Given the description of an element on the screen output the (x, y) to click on. 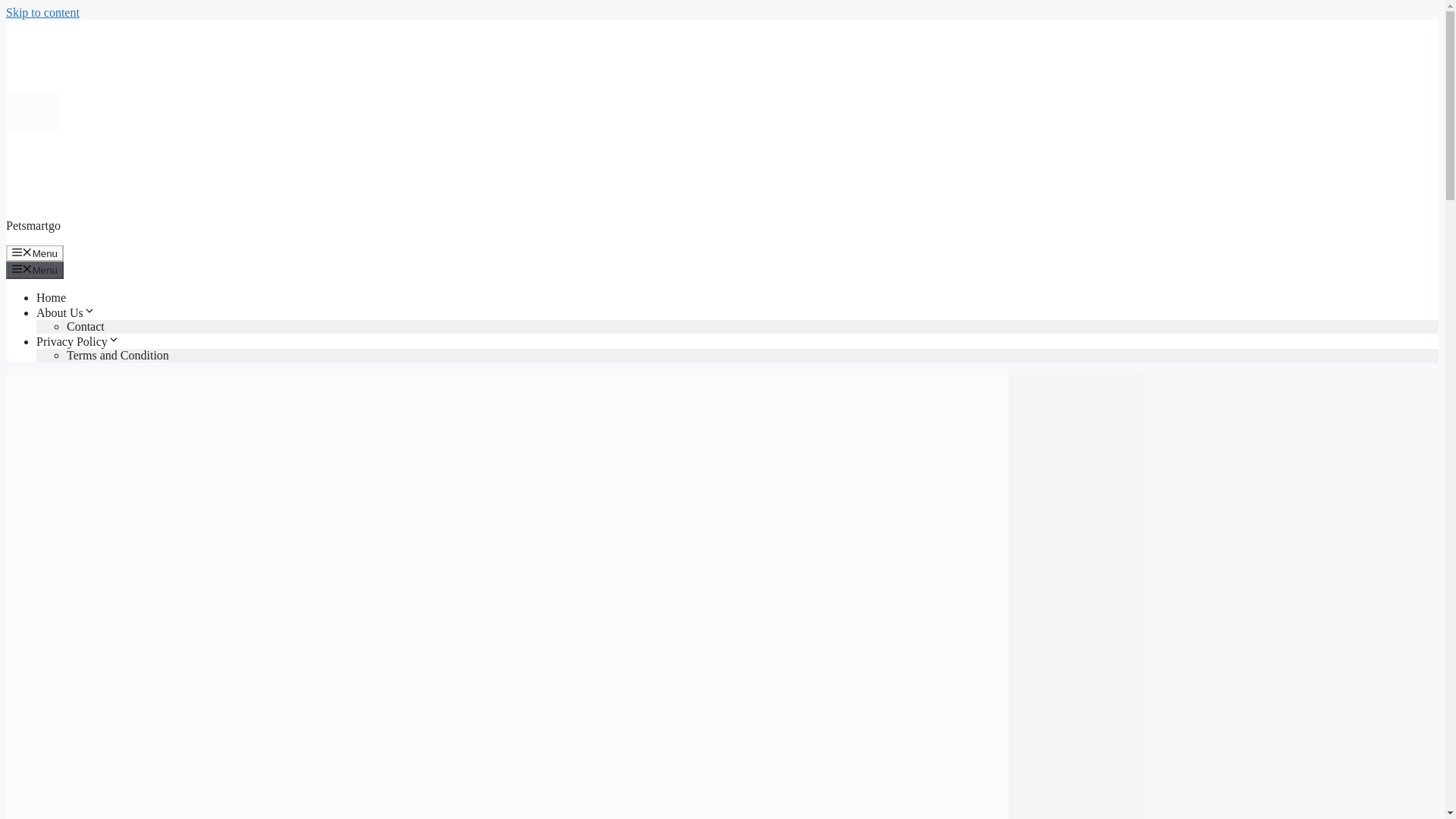
Privacy Policy (77, 341)
Home (50, 297)
Petsmartgo (33, 225)
About Us (66, 312)
Skip to content (42, 11)
Contact (85, 326)
Terms and Condition (117, 354)
Menu (34, 252)
Menu (34, 269)
